Given the description of an element on the screen output the (x, y) to click on. 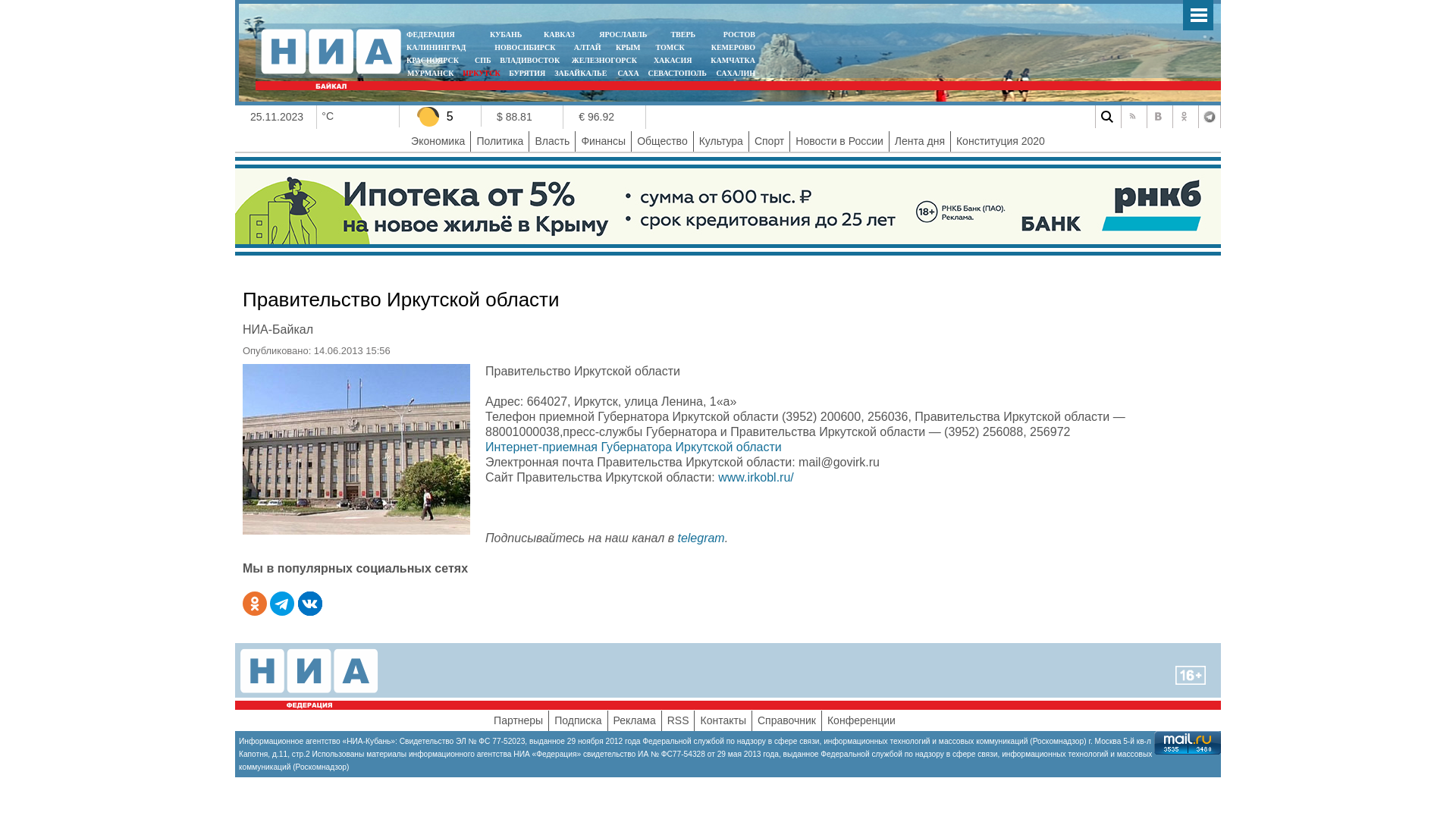
RSS Element type: hover (1131, 116)
telegram Element type: text (700, 537)
www.irkobl.ru/ Element type: text (755, 476)
Telegram Element type: hover (1209, 116)
RSS Element type: text (678, 720)
